Given the description of an element on the screen output the (x, y) to click on. 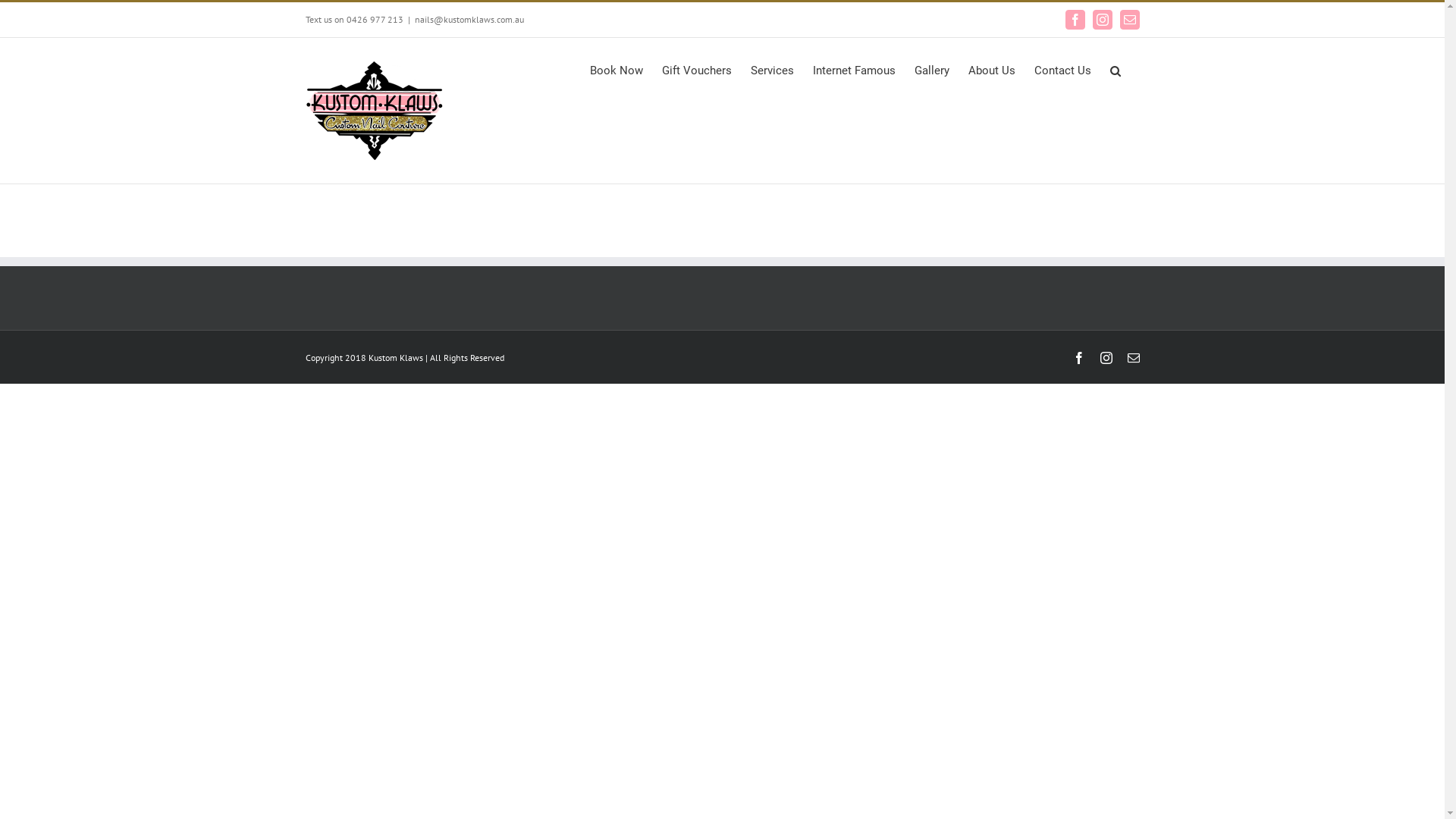
Gift Vouchers Element type: text (696, 69)
About Us Element type: text (990, 69)
Book Now Element type: text (616, 69)
Instagram Element type: text (1101, 19)
Facebook Element type: text (1074, 19)
Facebook Element type: text (1078, 357)
Gallery Element type: text (931, 69)
Contact Us Element type: text (1062, 69)
Instagram Element type: text (1105, 357)
Search Element type: hover (1115, 69)
Email Element type: text (1129, 19)
Services Element type: text (771, 69)
nails@kustomklaws.com.au Element type: text (468, 19)
Email Element type: text (1132, 357)
Internet Famous Element type: text (853, 69)
